Given the description of an element on the screen output the (x, y) to click on. 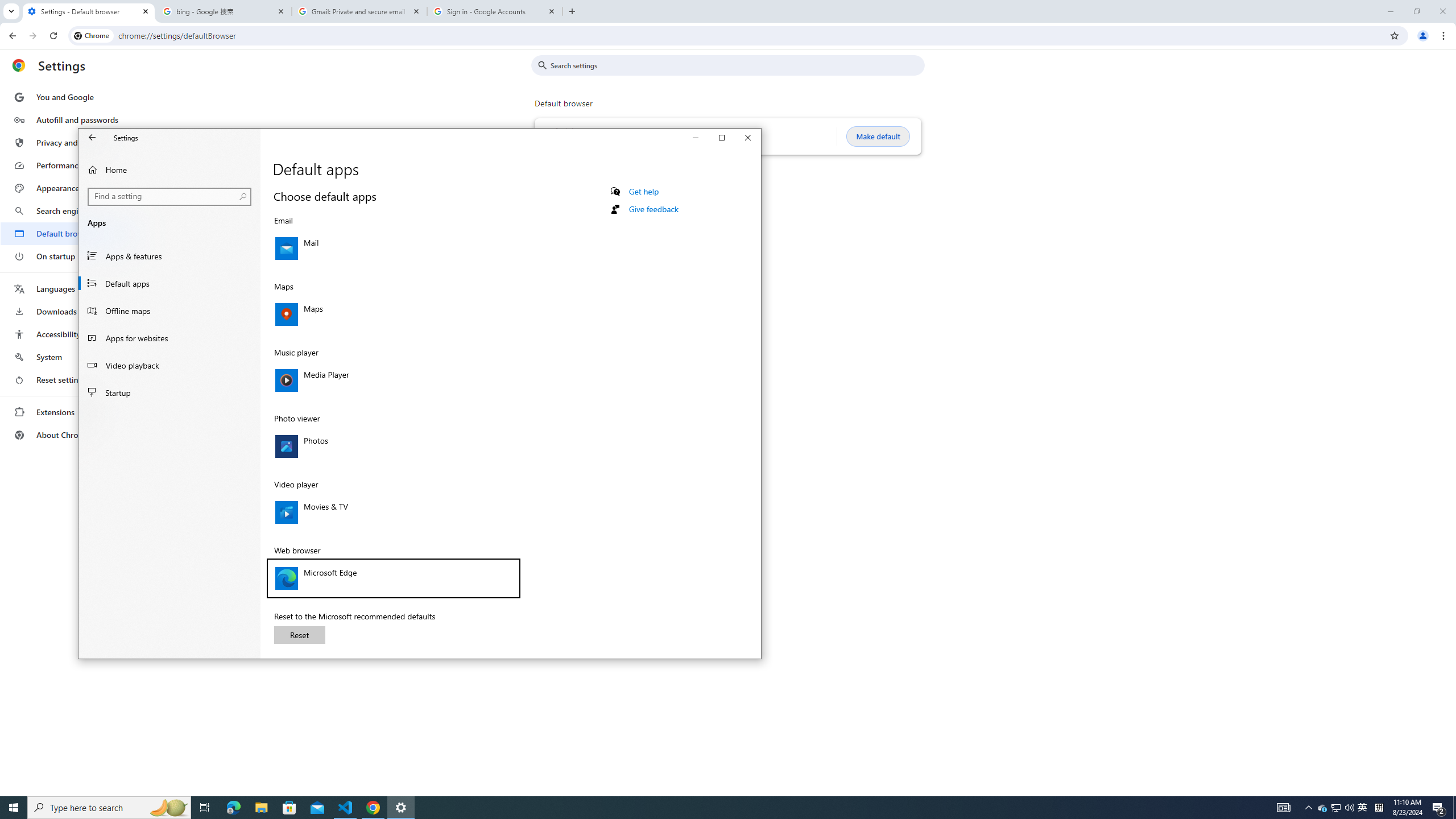
Apps & features (169, 255)
Music player, Media Player (392, 379)
Home (169, 169)
Video player, Movies & TV (392, 511)
Action Center, 2 new notifications (1439, 807)
Web browser, Microsoft Edge (392, 578)
Reset (298, 634)
Email, Mail (392, 248)
Microsoft Edge (233, 807)
Microsoft Store (289, 807)
